Given the description of an element on the screen output the (x, y) to click on. 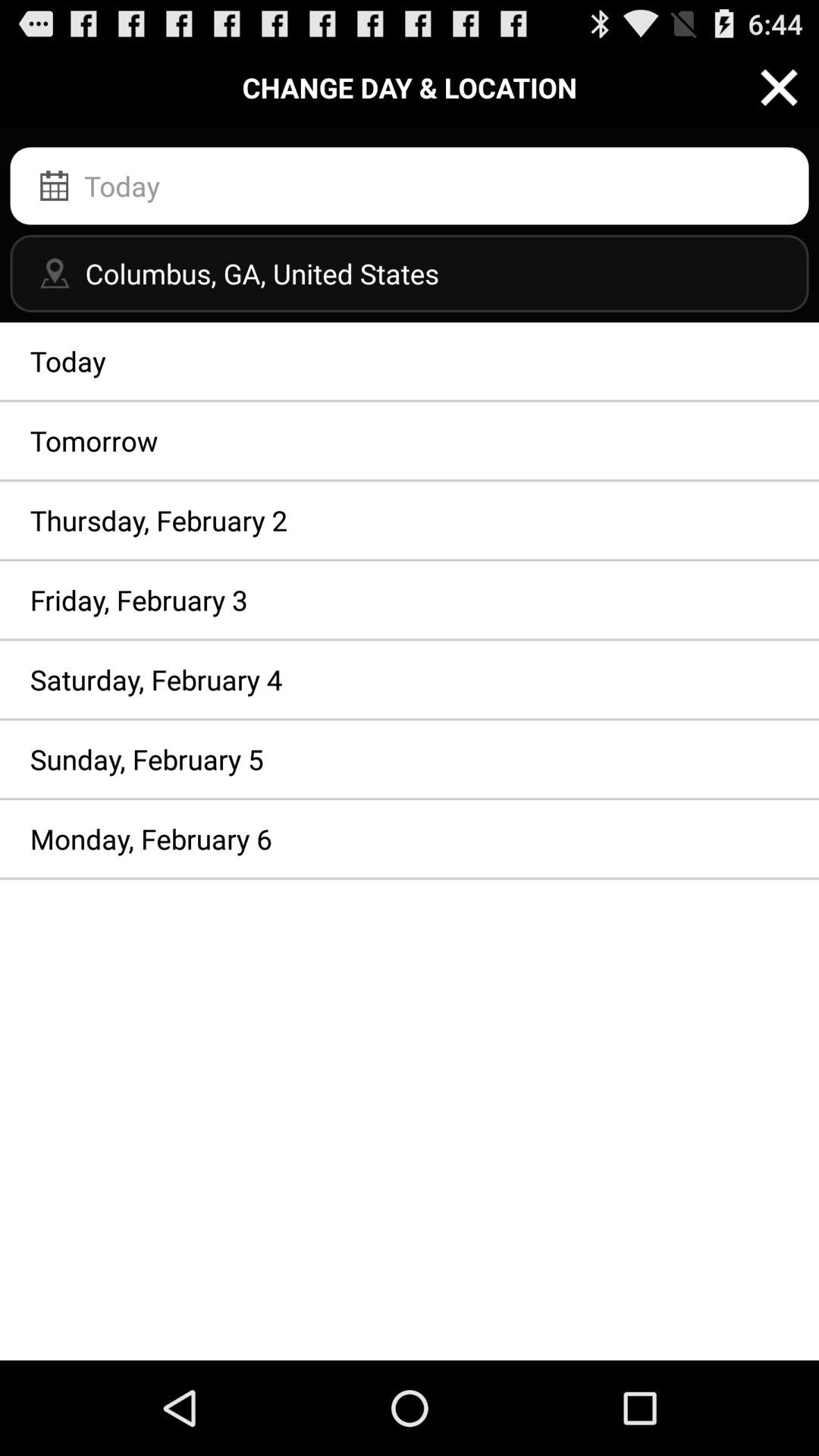
jump to the today item (409, 360)
